Given the description of an element on the screen output the (x, y) to click on. 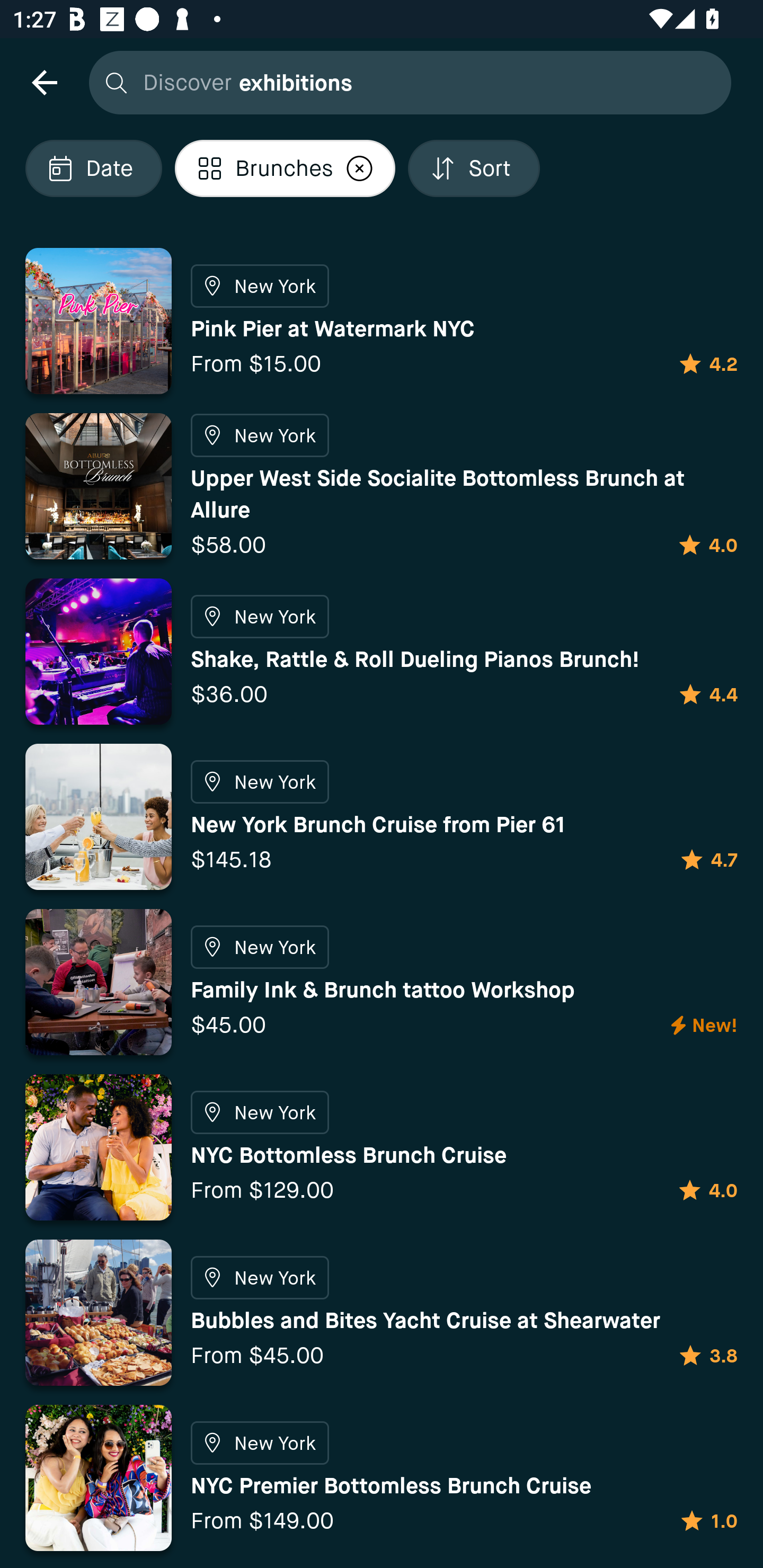
navigation icon (44, 81)
Discover exhibitions (405, 81)
Localized description Date (93, 168)
Localized description (359, 168)
Localized description Sort (474, 168)
